Given the description of an element on the screen output the (x, y) to click on. 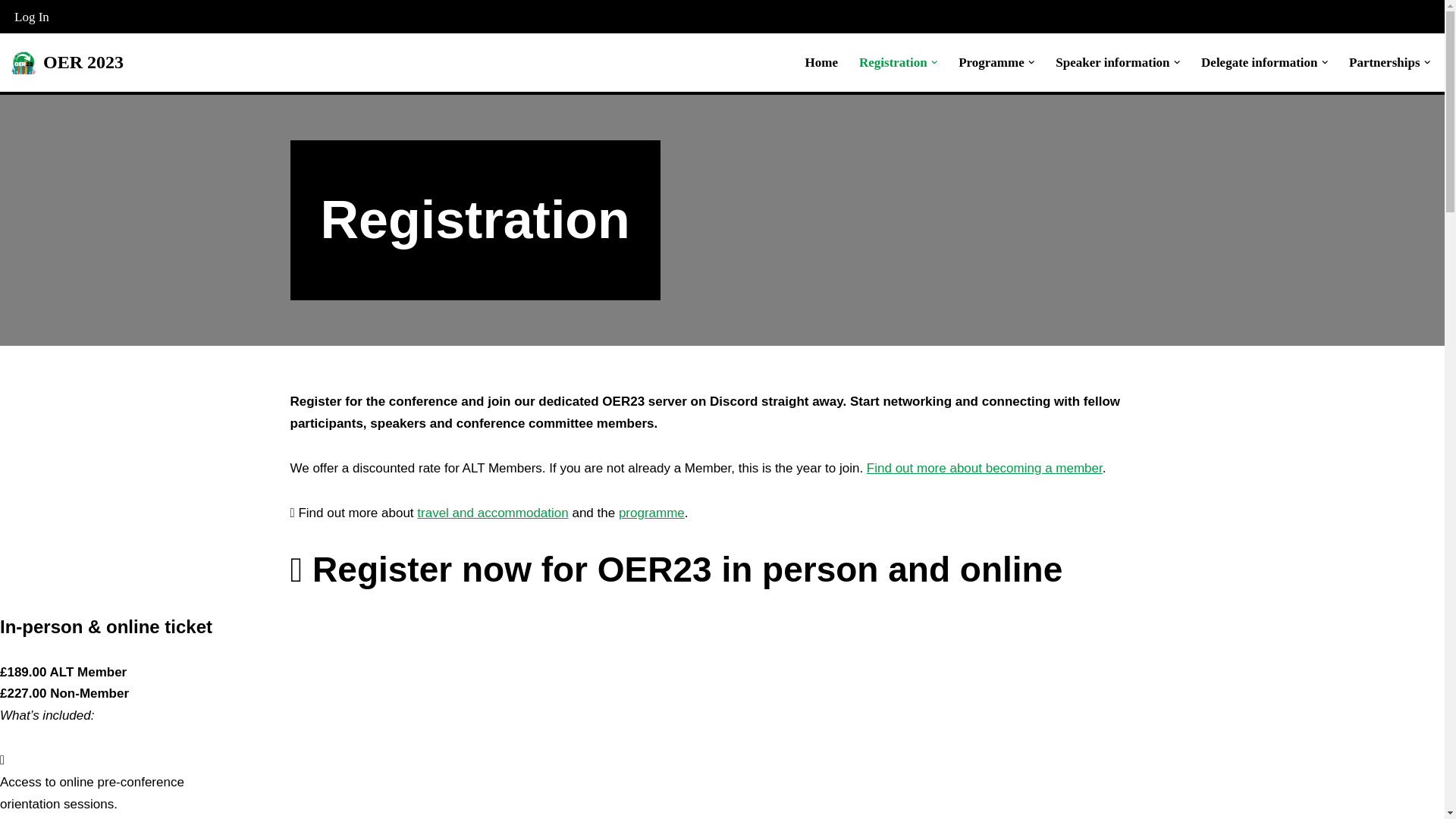
Skip to content (11, 31)
Home (821, 61)
Log In (31, 16)
Partnerships (1385, 61)
Registration (893, 61)
Programme (991, 61)
Speaker information (1112, 61)
Delegate information (1259, 61)
